Given the description of an element on the screen output the (x, y) to click on. 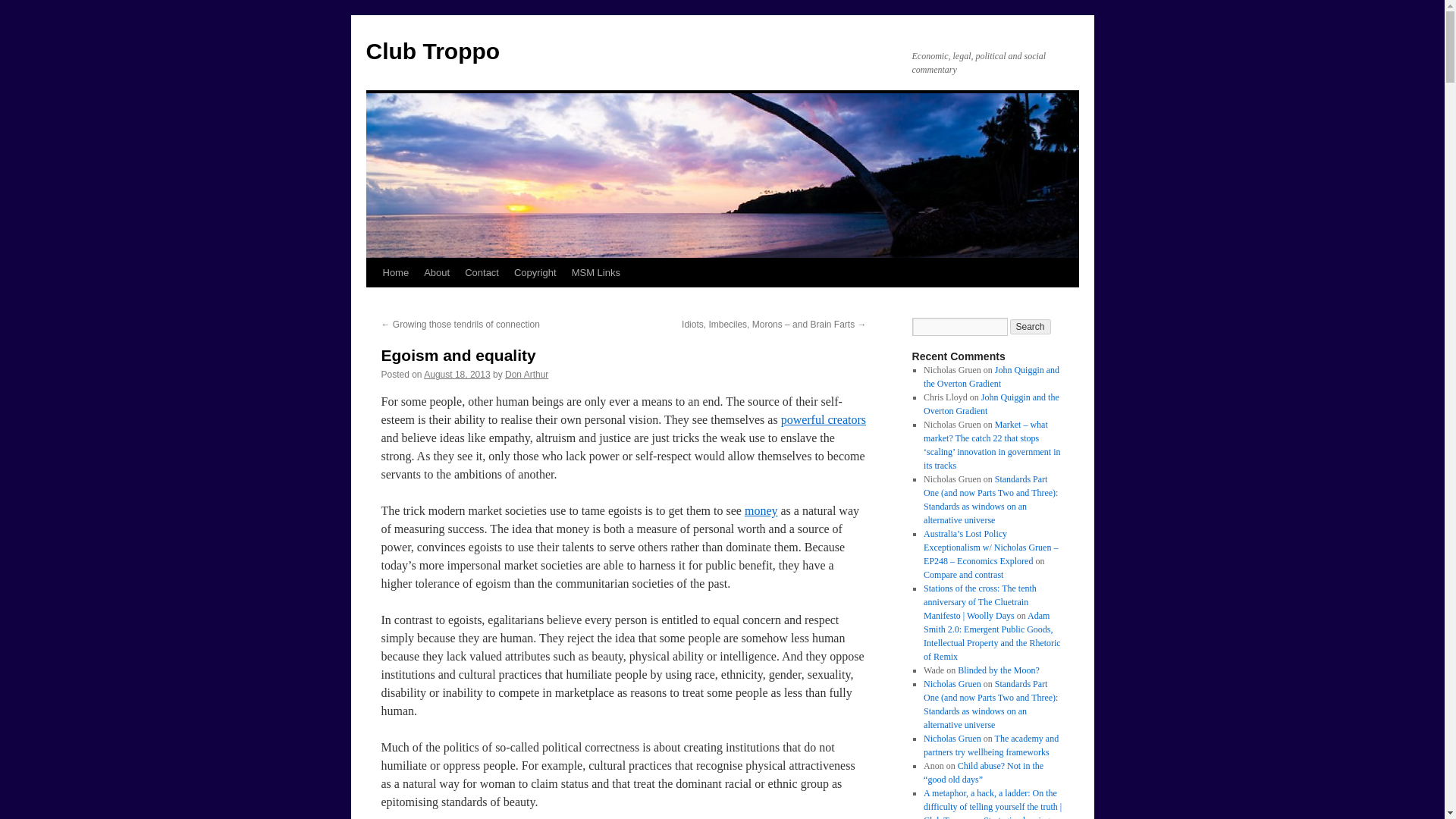
Search (1030, 326)
MSM Links (595, 272)
7:21 pm (456, 374)
money (760, 510)
View all posts by Don Arthur (526, 374)
Copyright (535, 272)
Don Arthur (526, 374)
powerful creators (823, 419)
Club Troppo (432, 50)
Home (395, 272)
